Given the description of an element on the screen output the (x, y) to click on. 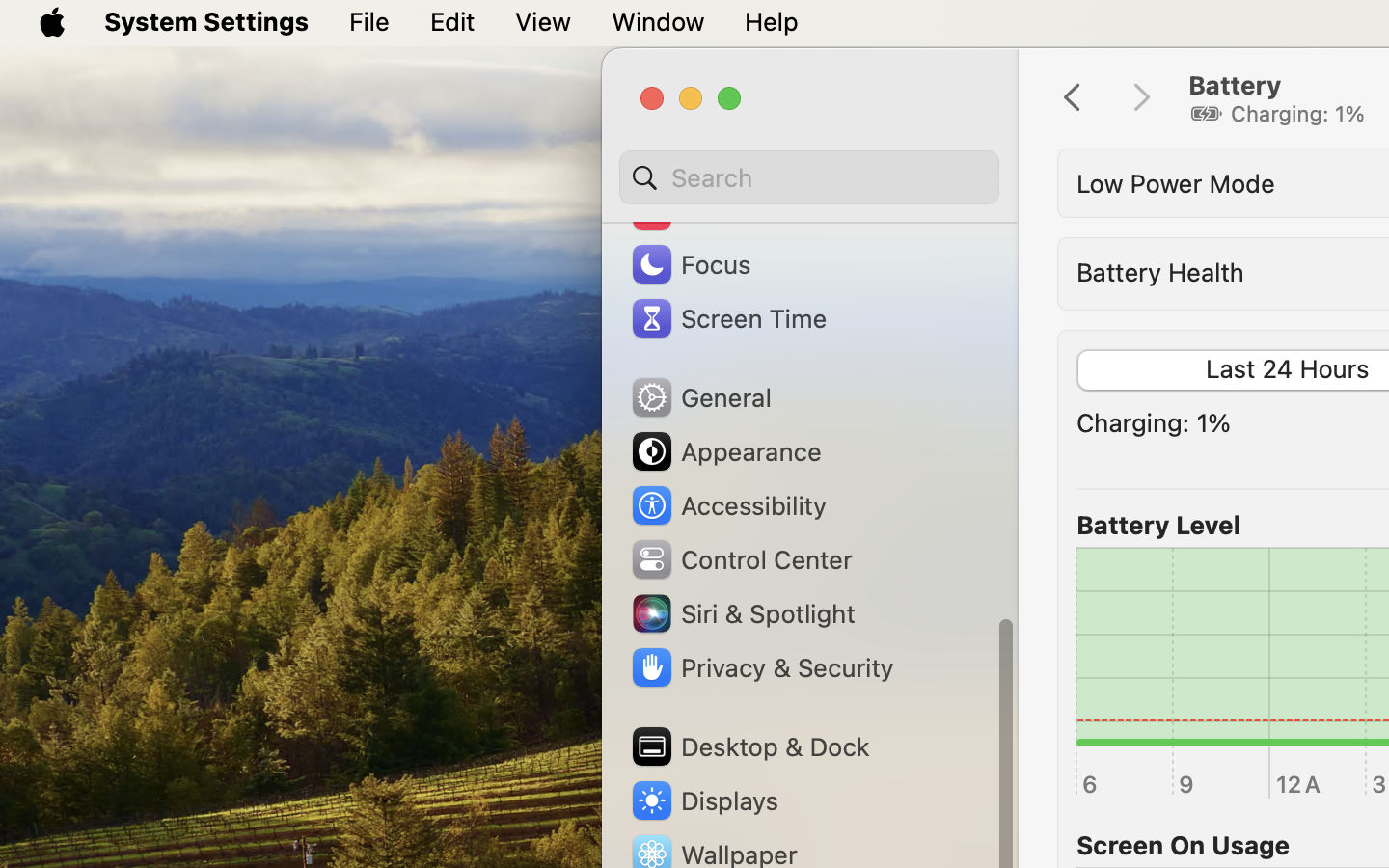
Charging: 1% Element type: AXStaticText (1153, 421)
General Element type: AXStaticText (699, 397)
